Given the description of an element on the screen output the (x, y) to click on. 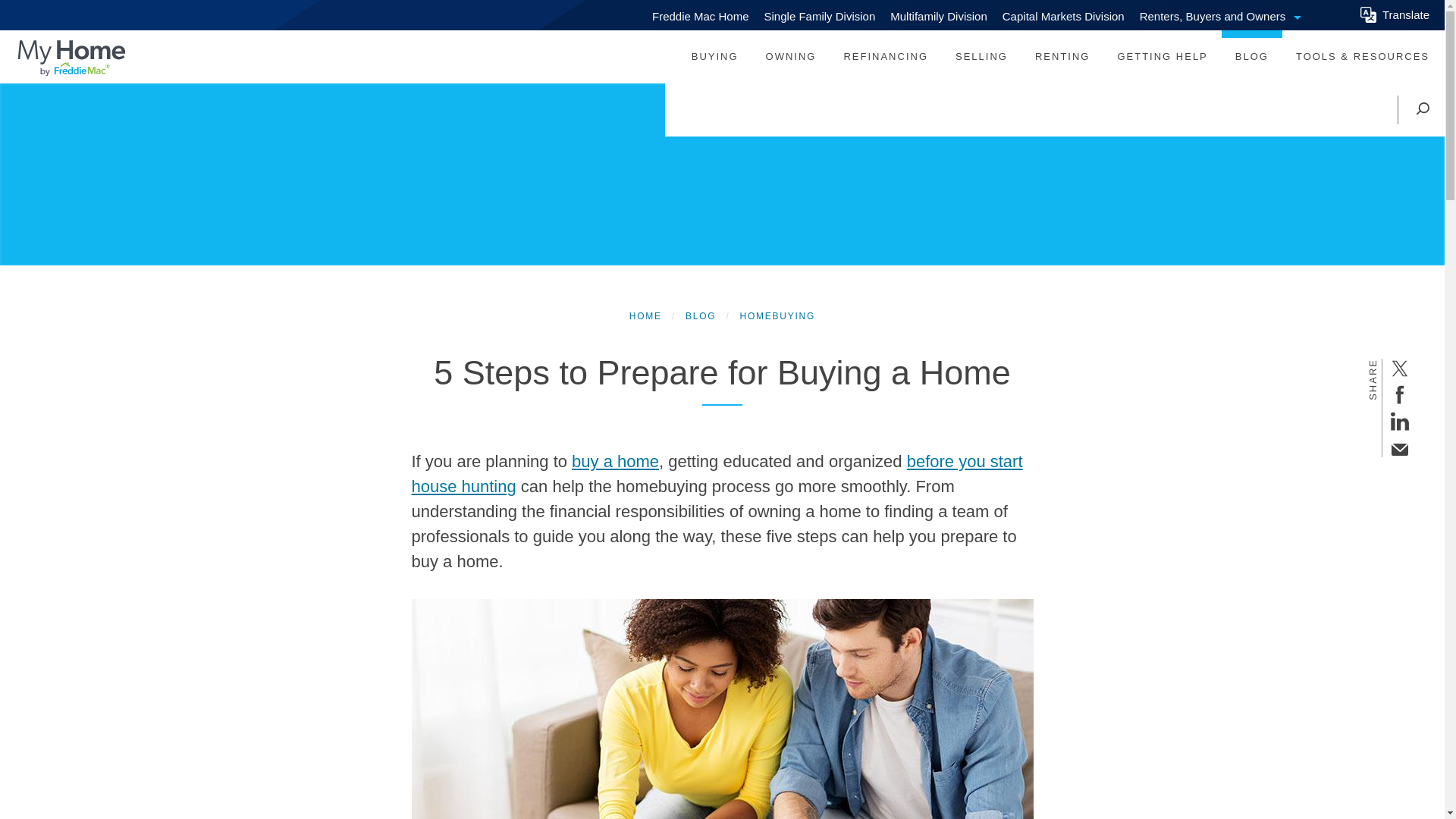
OWNING (790, 56)
Freddie Mac Home (702, 15)
BUYING (1228, 15)
Translate (714, 56)
GETTING HELP (1394, 15)
REFINANCING (1162, 56)
BLOG (885, 56)
Skip to main content (1251, 56)
